Given the description of an element on the screen output the (x, y) to click on. 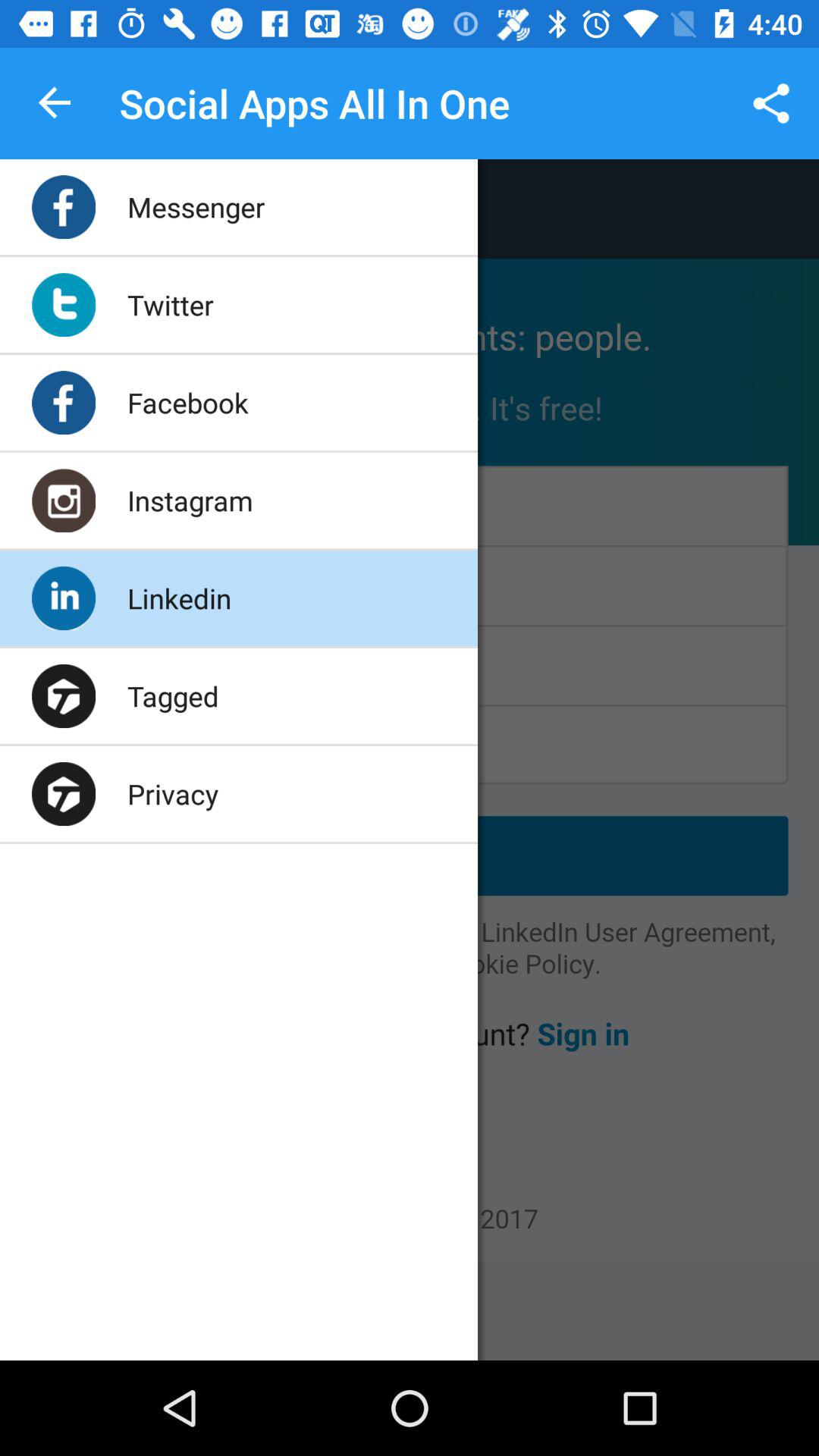
turn off item at the center (409, 709)
